Given the description of an element on the screen output the (x, y) to click on. 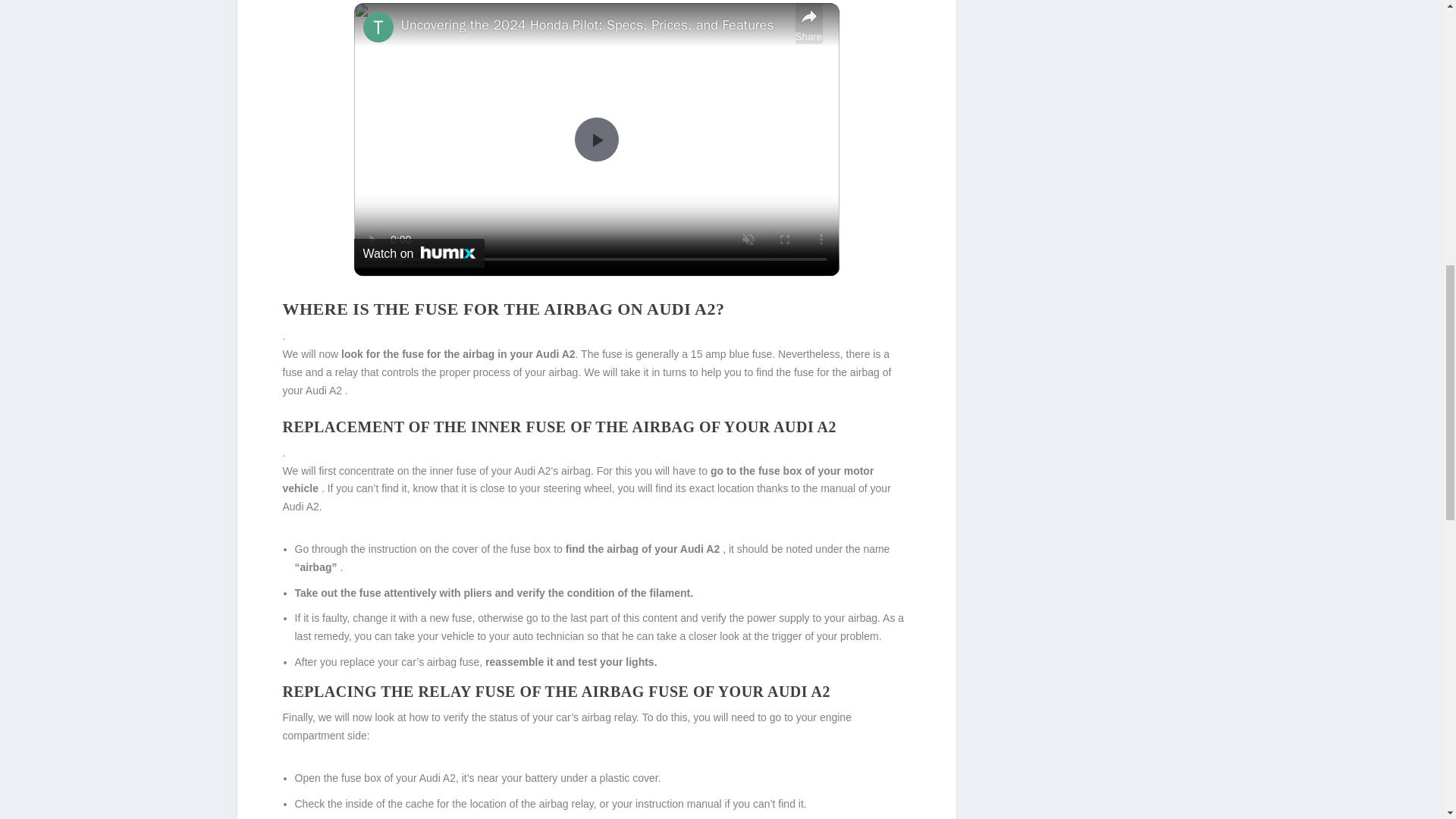
PLAY VIDEO (595, 139)
Watch on (418, 253)
Uncovering the 2024 Honda Pilot: Specs, Prices, and Features (593, 25)
Play Video (595, 139)
